Given the description of an element on the screen output the (x, y) to click on. 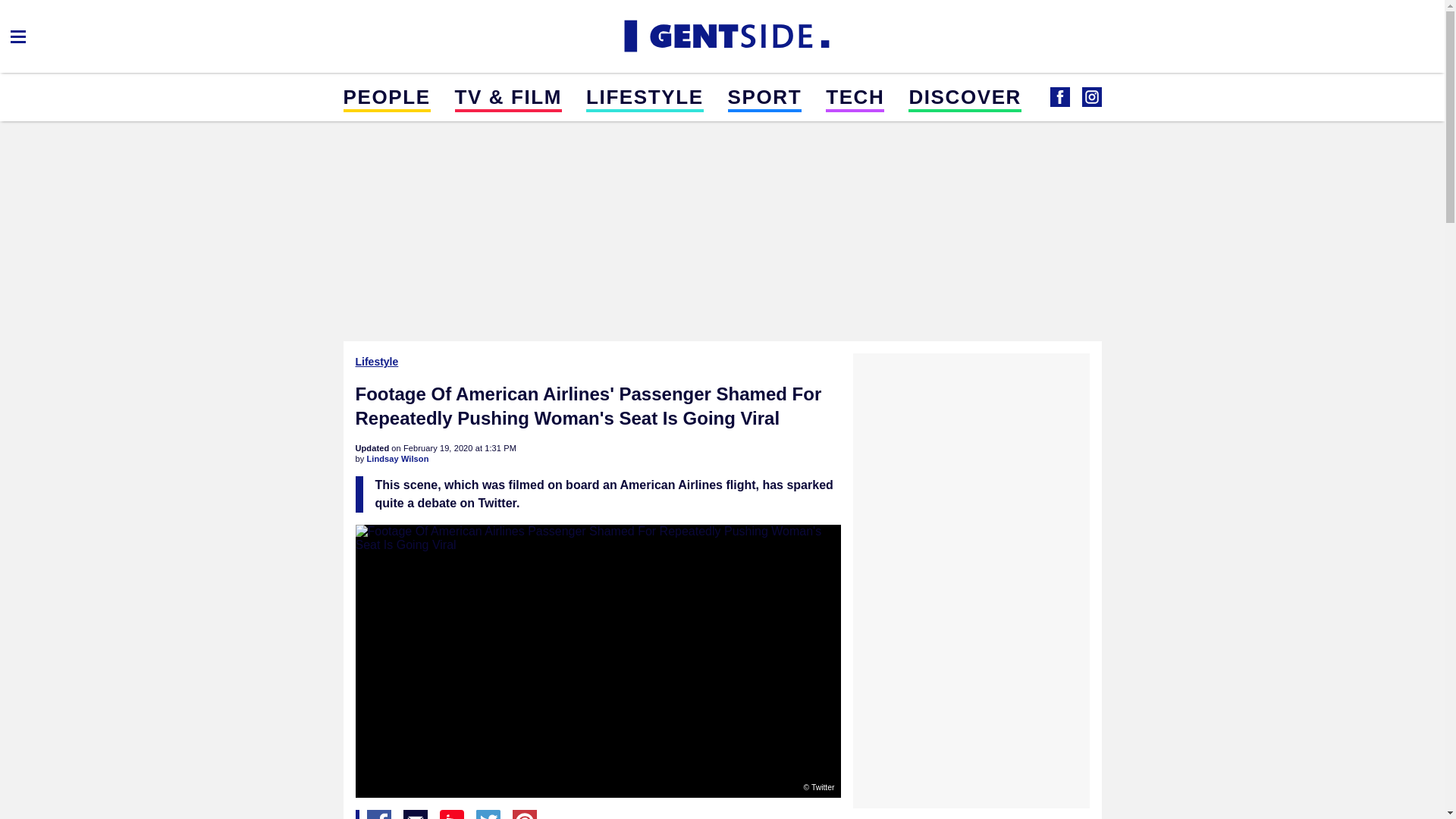
Lifestyle (378, 361)
DISCOVER (965, 96)
LIFESTYLE (644, 96)
SPORT (765, 96)
Gentside UK (1090, 96)
Share on Mail (415, 814)
Share on Facebook (378, 814)
PEOPLE (385, 96)
Share on Flipboard (451, 814)
Tweeter (488, 814)
Gentside Lifestyle (1058, 96)
Pin it (524, 814)
TECH (854, 96)
Gentside UK (721, 36)
